Given the description of an element on the screen output the (x, y) to click on. 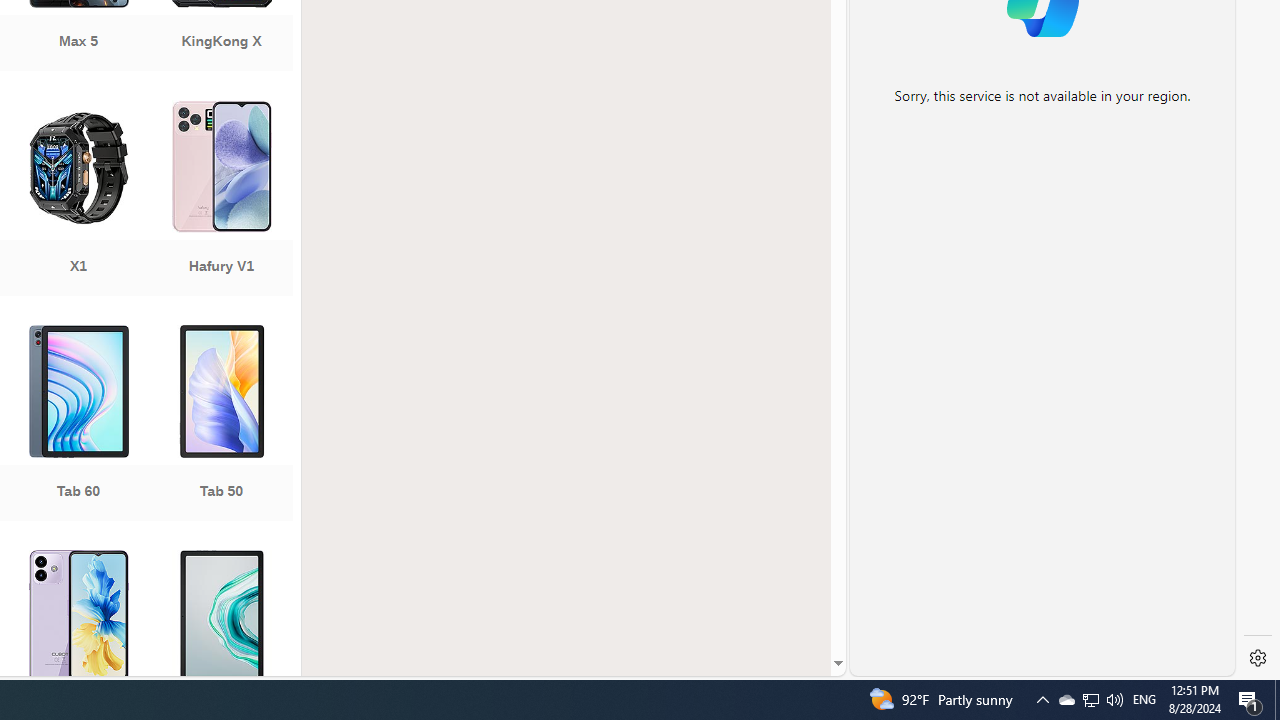
X1 (77, 200)
Settings (1258, 658)
Tab 50 (221, 425)
Hafury V1 (221, 200)
Tab 60 (77, 425)
